Given the description of an element on the screen output the (x, y) to click on. 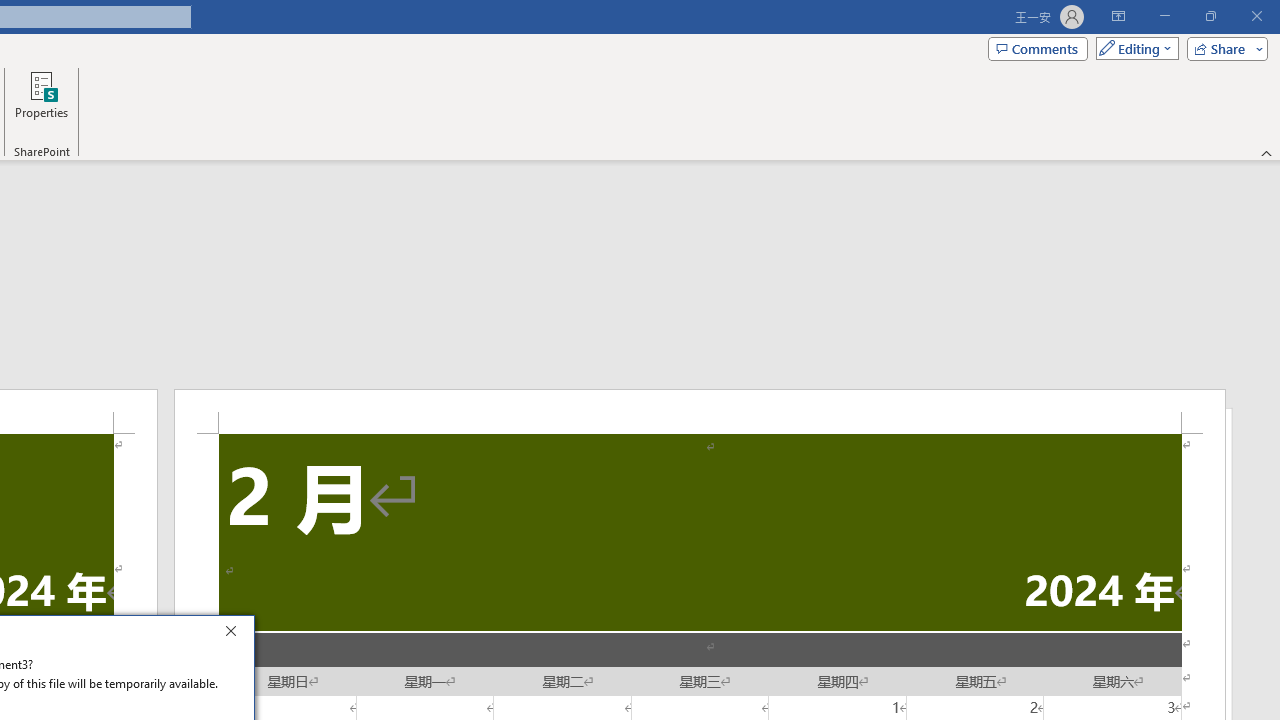
Header -Section 2- (700, 411)
Properties (41, 102)
